Given the description of an element on the screen output the (x, y) to click on. 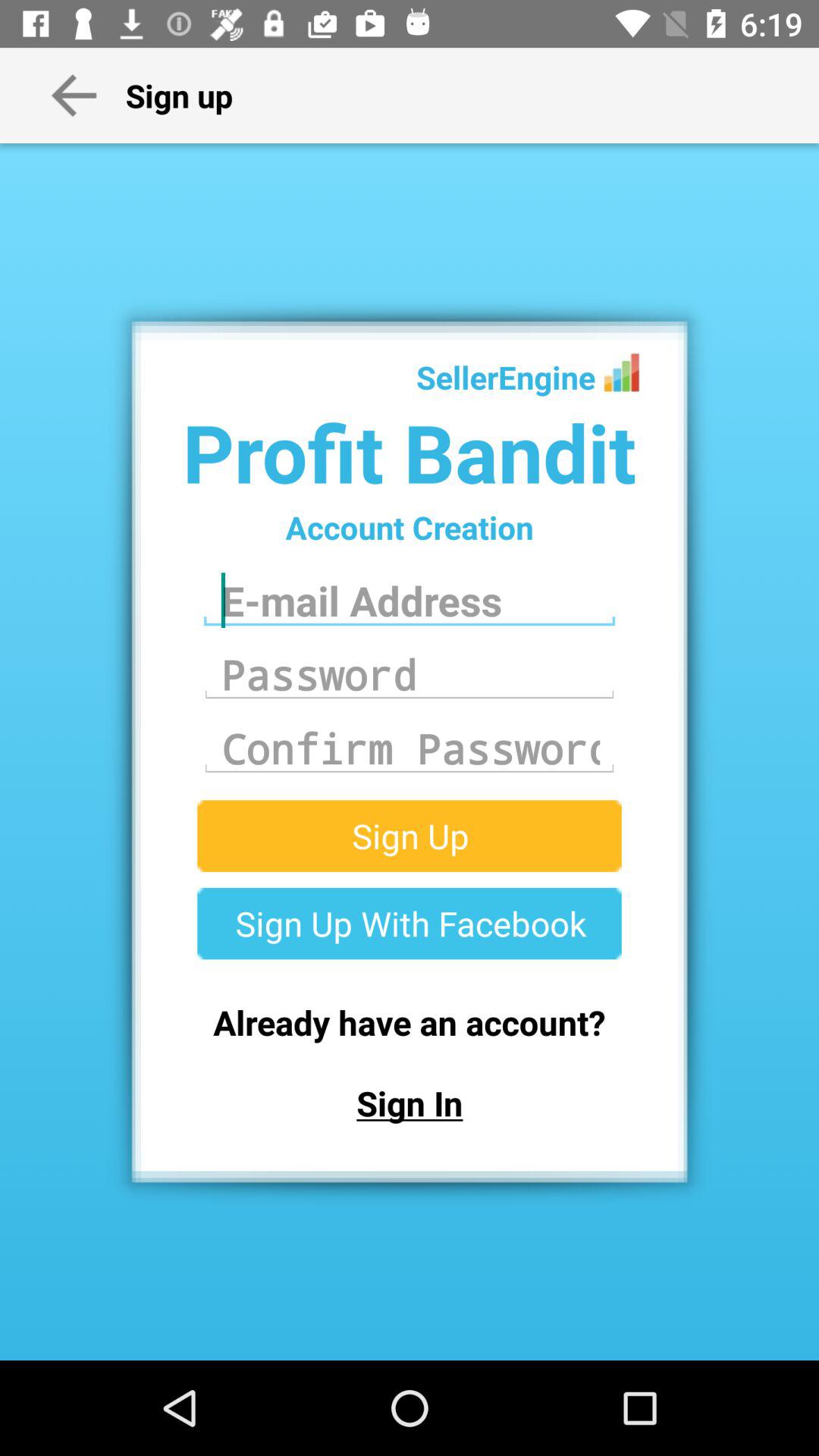
tap the item below account creation (409, 600)
